Given the description of an element on the screen output the (x, y) to click on. 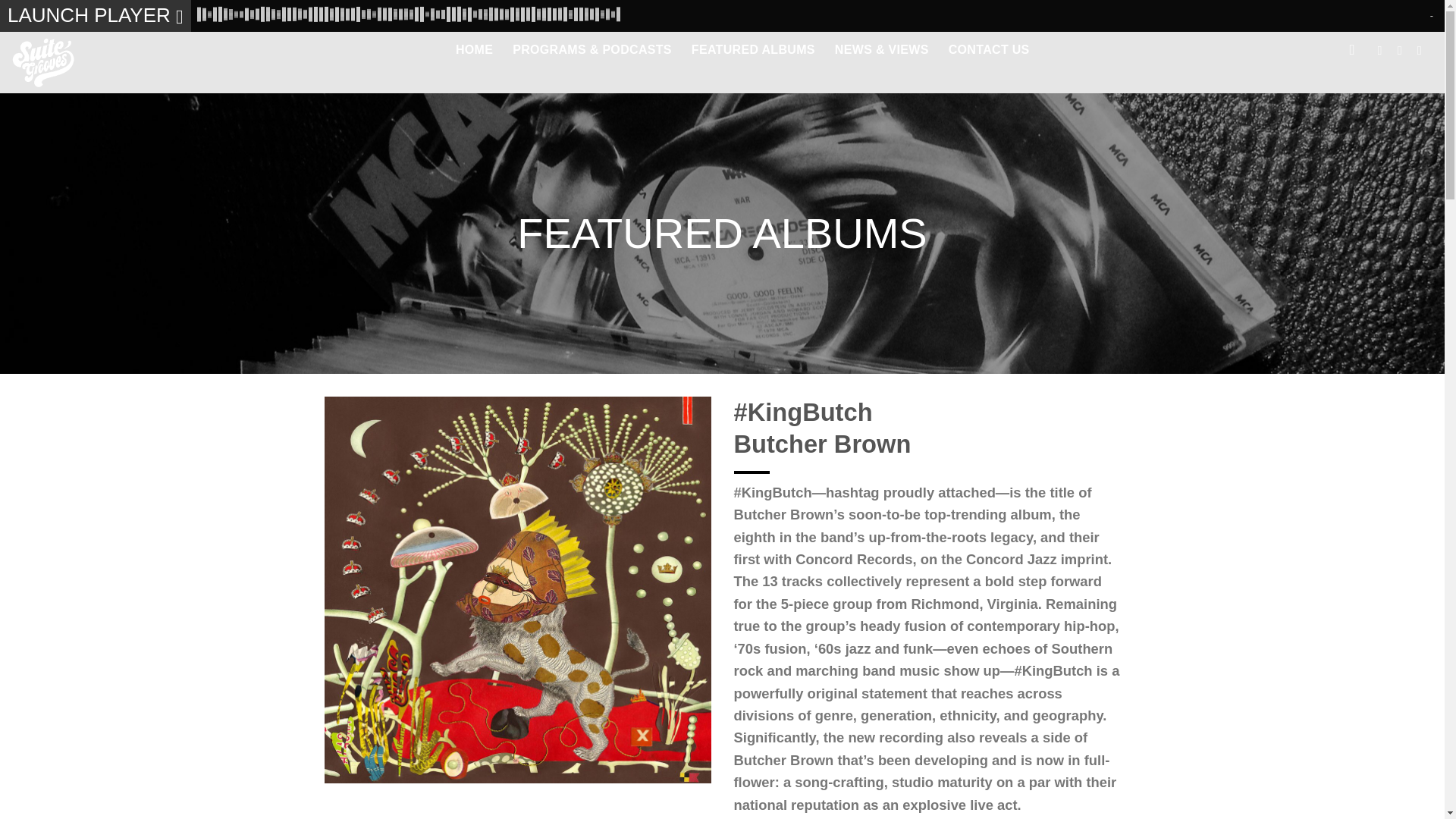
CONTACT US (989, 49)
HOME (474, 49)
LAUNCH PLAYER (95, 15)
Suite Grooves (62, 62)
FEATURED ALBUMS (753, 49)
